Given the description of an element on the screen output the (x, y) to click on. 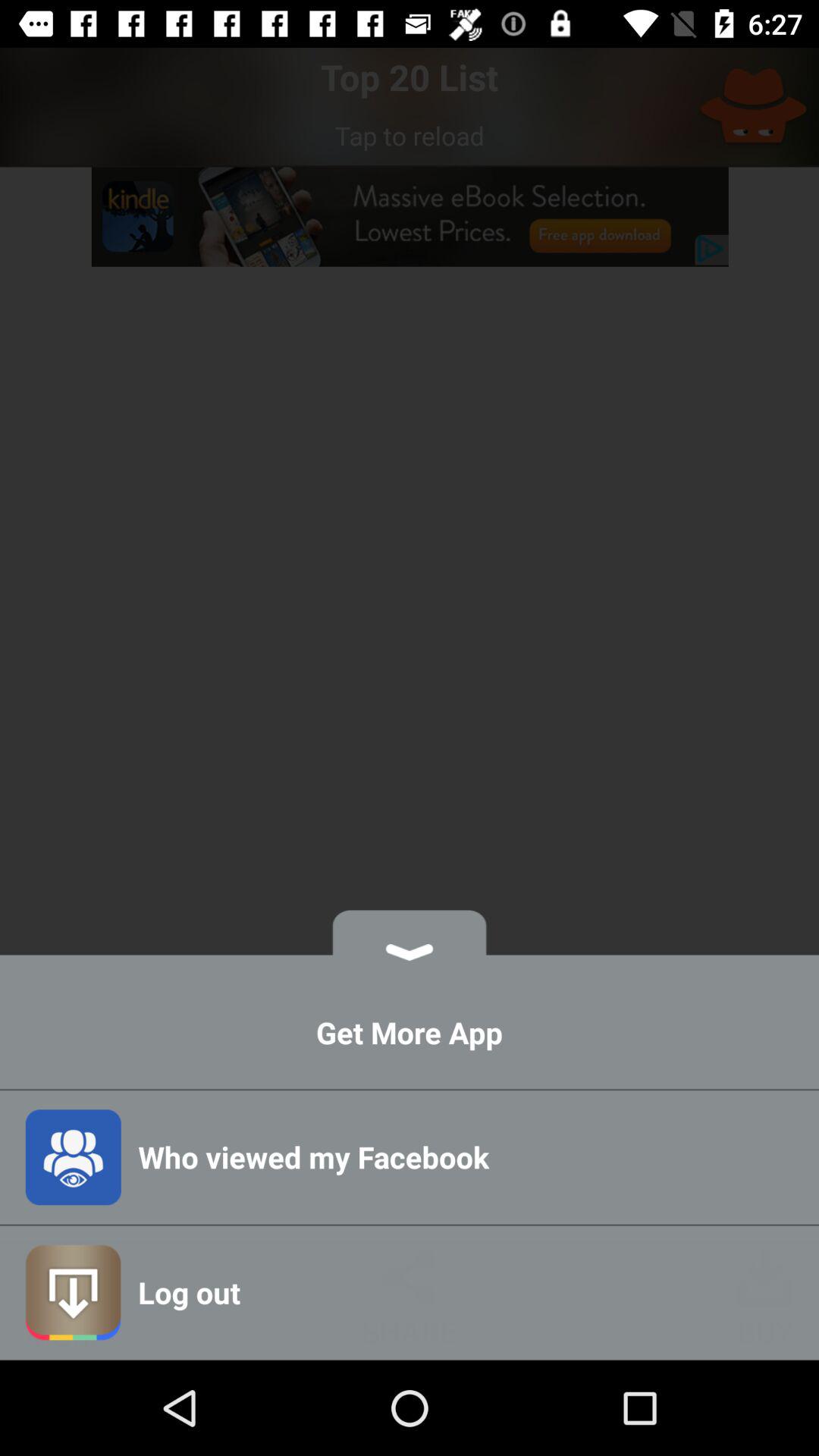
swipe until tap to reload item (409, 135)
